Given the description of an element on the screen output the (x, y) to click on. 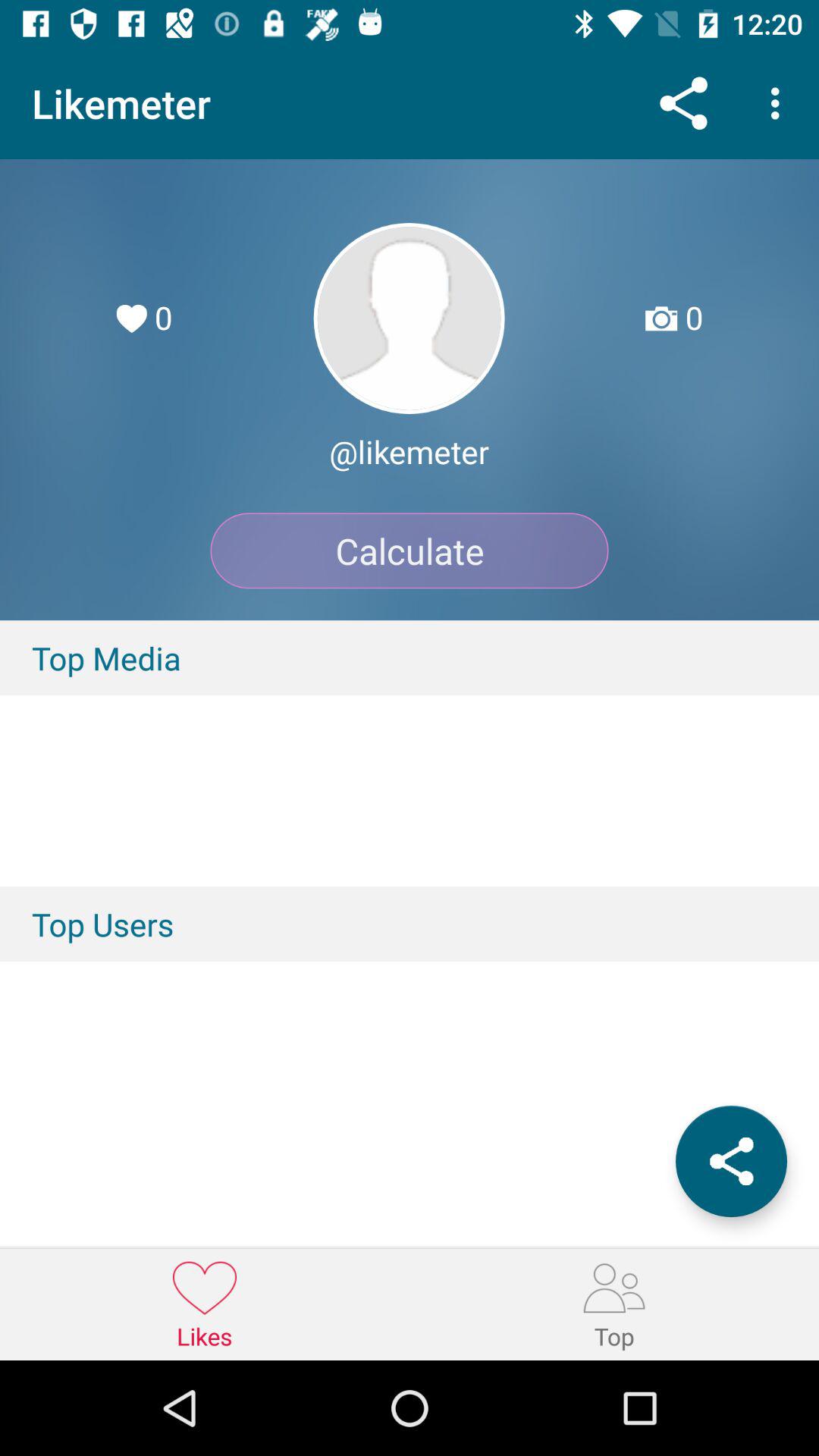
launch the item below @likemeter icon (409, 550)
